Given the description of an element on the screen output the (x, y) to click on. 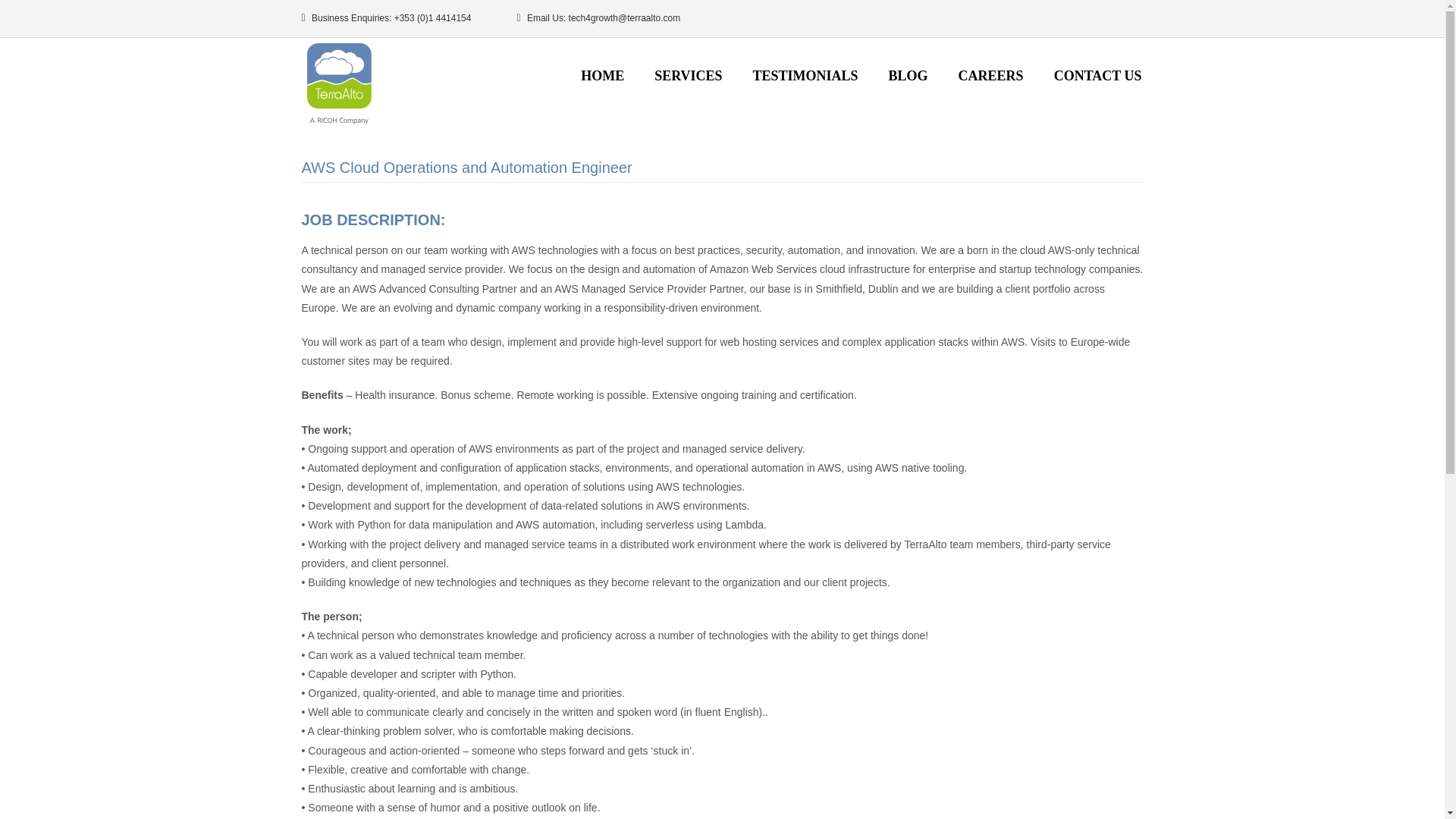
HOME (602, 75)
SERVICES (687, 75)
CAREERS (991, 75)
CONTACT US (1098, 75)
BLOG (908, 75)
TESTIMONIALS (805, 75)
